Given the description of an element on the screen output the (x, y) to click on. 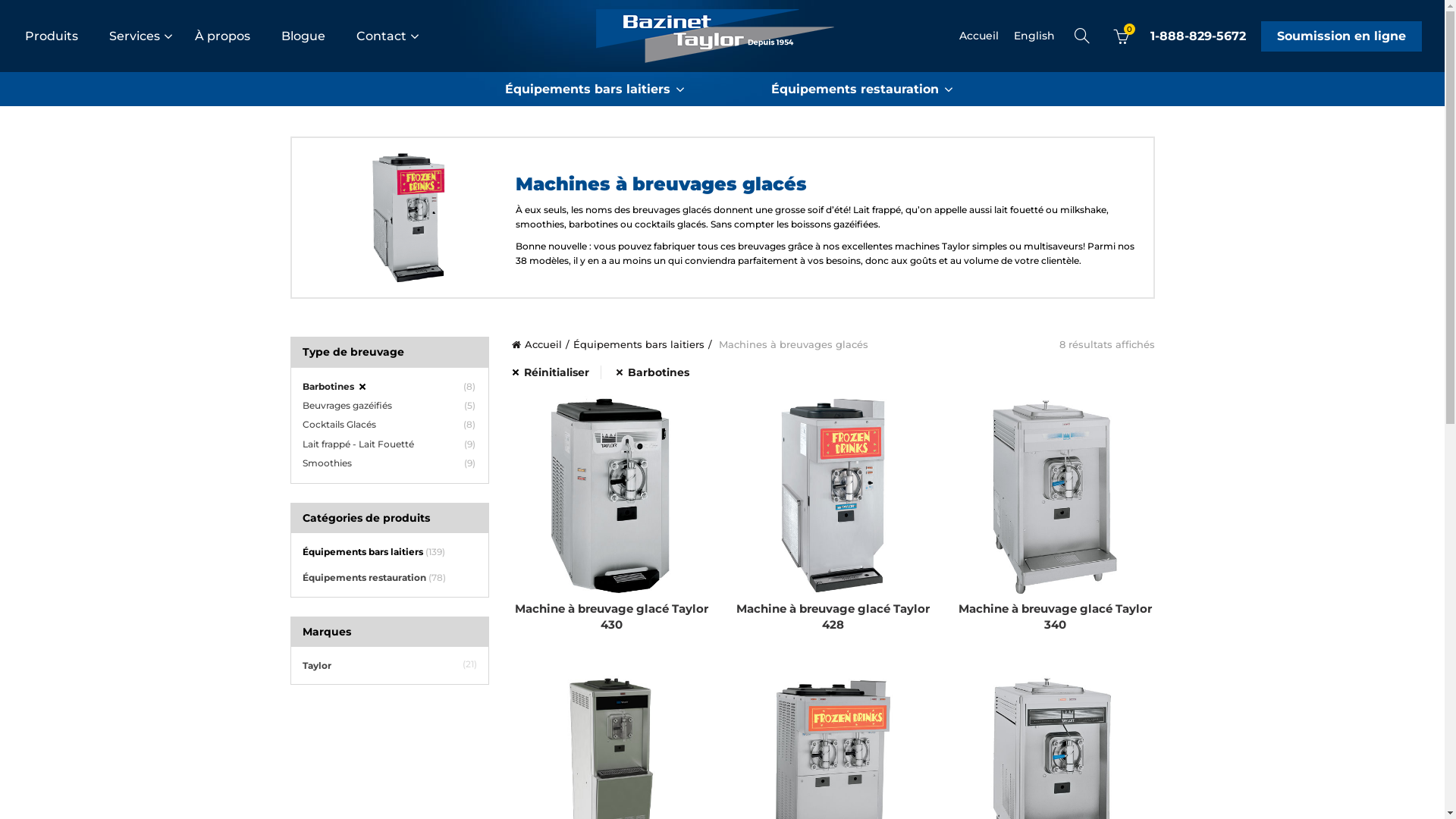
Accueil Element type: text (978, 35)
1-888-829-5672 Element type: text (1197, 35)
Smoothies Element type: text (326, 462)
Taylor Element type: text (315, 665)
Services Element type: text (149, 35)
Blogue Element type: text (317, 35)
Accueil Element type: text (540, 344)
Contact Element type: text (396, 35)
0 Element type: text (1122, 35)
Rechercher Element type: text (30, 45)
Barbotines Element type: text (333, 386)
Produits Element type: text (66, 35)
Soumission en ligne Element type: text (1341, 36)
Barbotines Element type: text (652, 372)
English Element type: text (1033, 35)
